Given the description of an element on the screen output the (x, y) to click on. 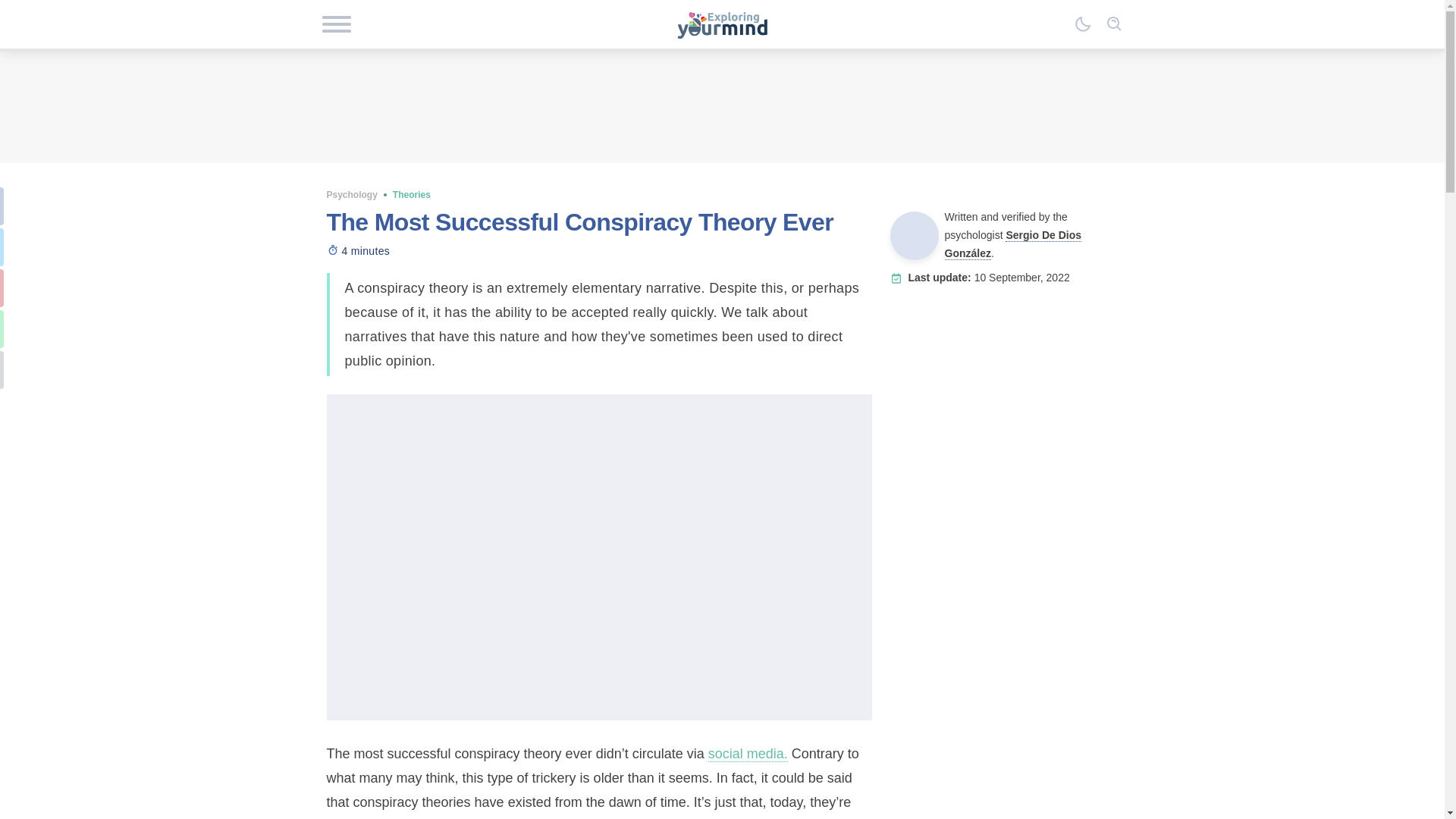
social media. (747, 754)
Psychology (351, 193)
Psychology (351, 193)
Theories (411, 193)
Theories (411, 193)
